Given the description of an element on the screen output the (x, y) to click on. 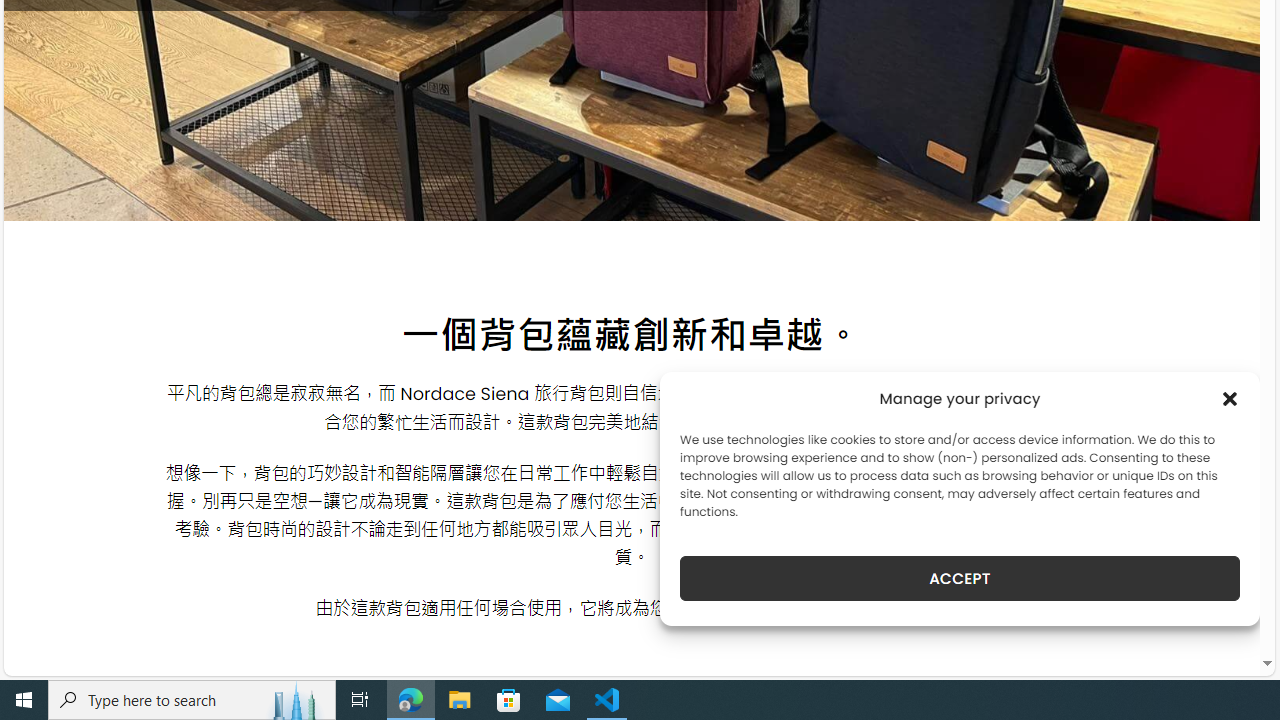
Class: cmplz-close (1229, 398)
ACCEPT (959, 578)
